Given the description of an element on the screen output the (x, y) to click on. 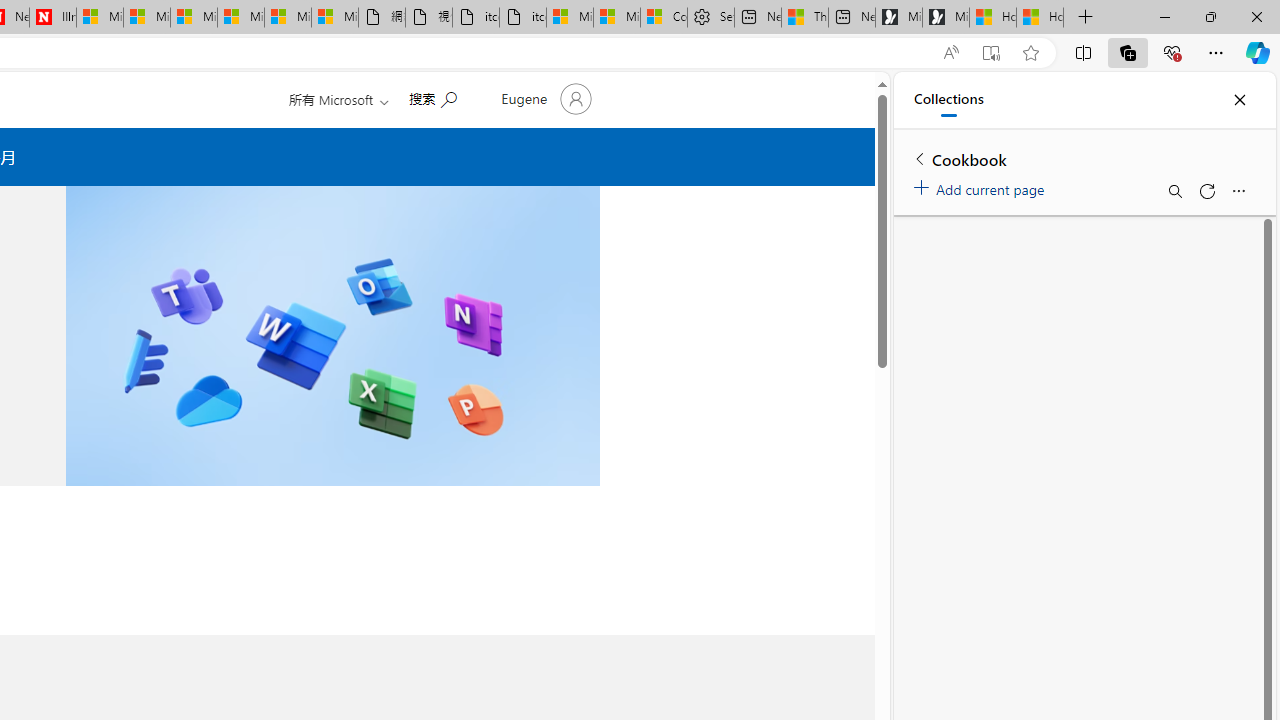
Back to list of collections (920, 158)
Consumer Health Data Privacy Policy (664, 17)
